Given the description of an element on the screen output the (x, y) to click on. 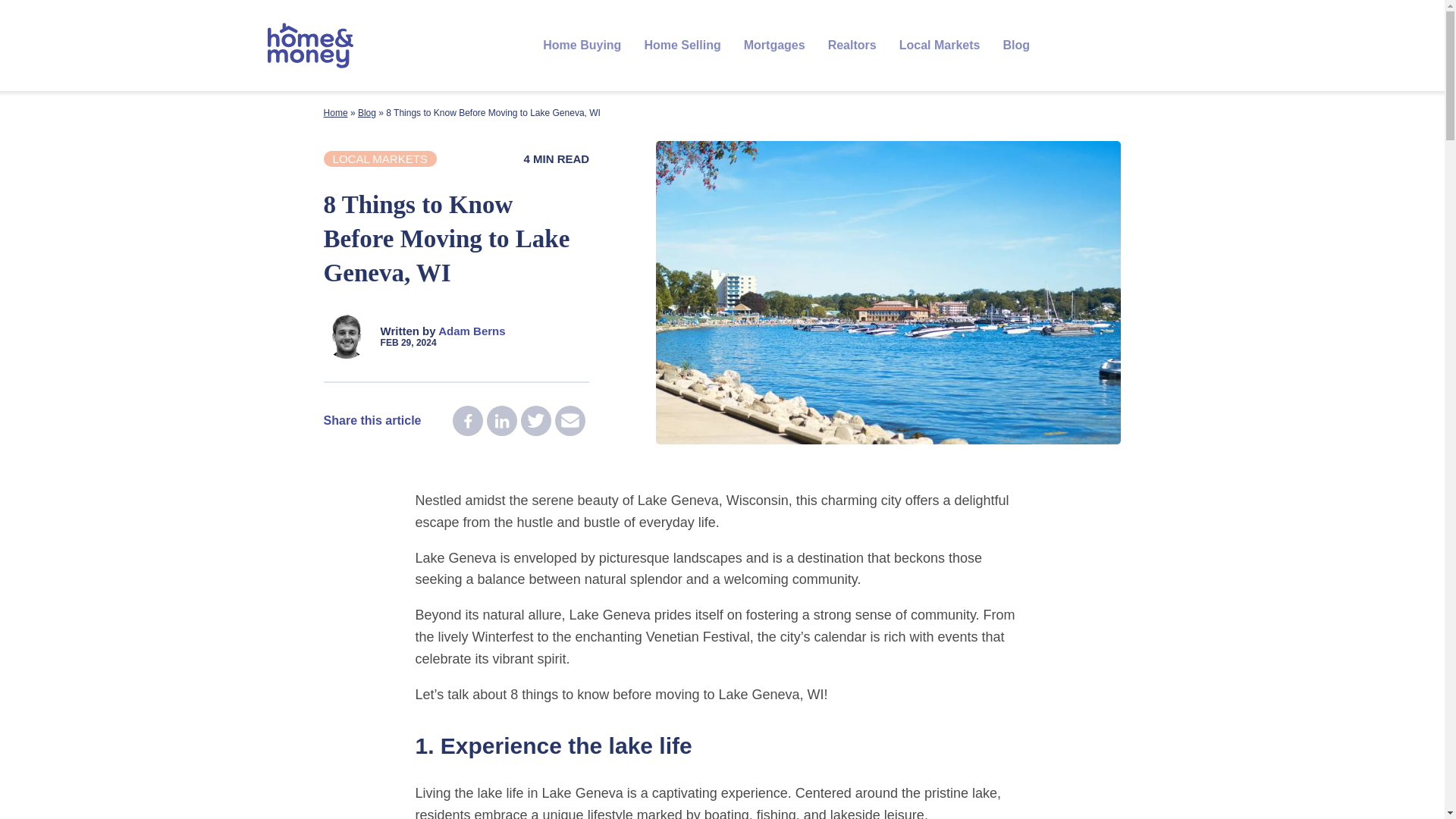
LinkedIn (501, 420)
Email (569, 420)
Facebook (467, 420)
Home And Money (311, 44)
Twitter (536, 420)
